Given the description of an element on the screen output the (x, y) to click on. 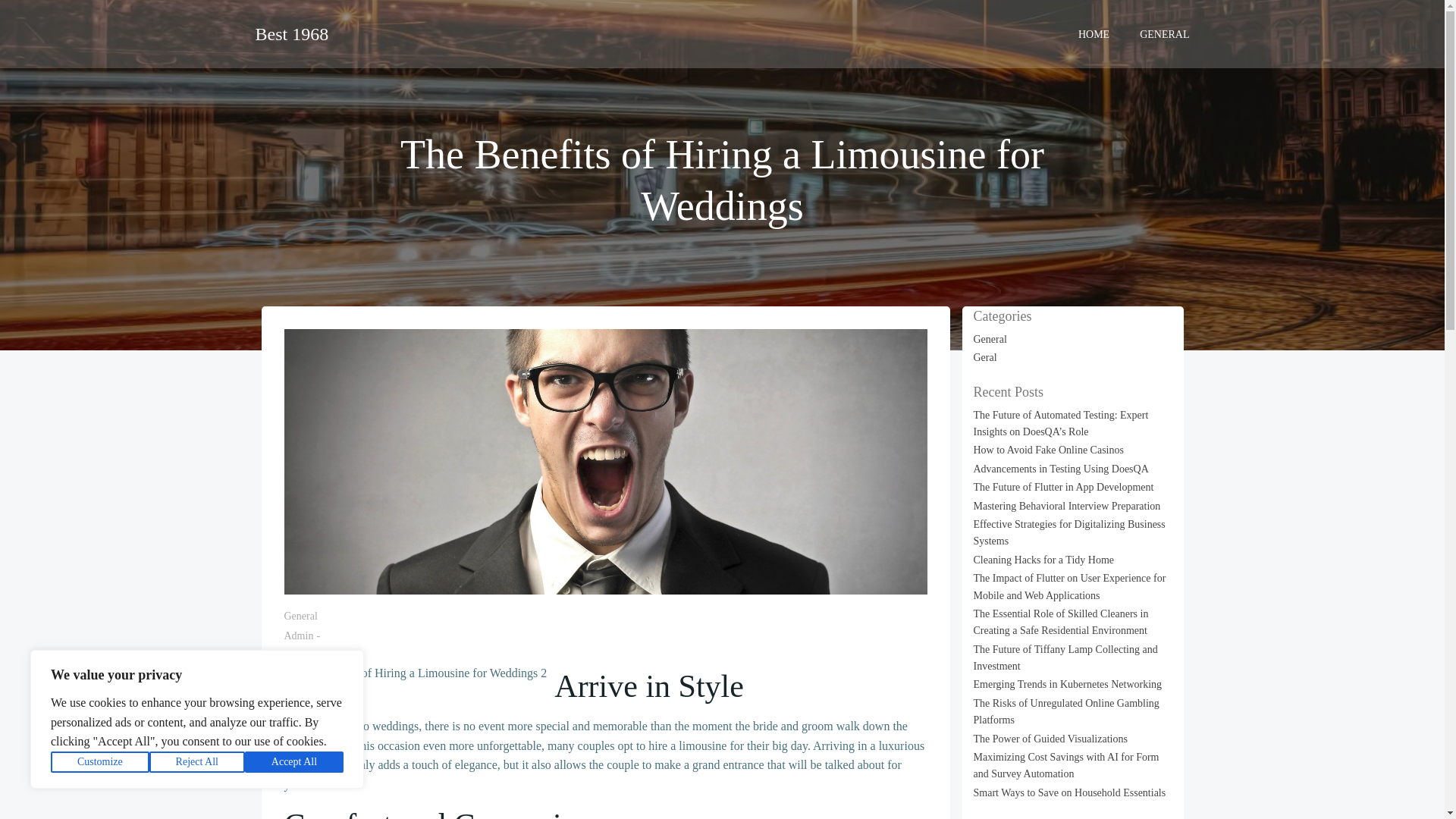
General (300, 616)
The Future of Flutter in App Development (1064, 487)
Best 1968 (291, 33)
Geral (985, 357)
How to Avoid Fake Online Casinos (1049, 449)
Reject All (196, 762)
Advancements in Testing Using DoesQA (1061, 469)
General (990, 338)
GENERAL (1164, 33)
Admin (298, 635)
